Given the description of an element on the screen output the (x, y) to click on. 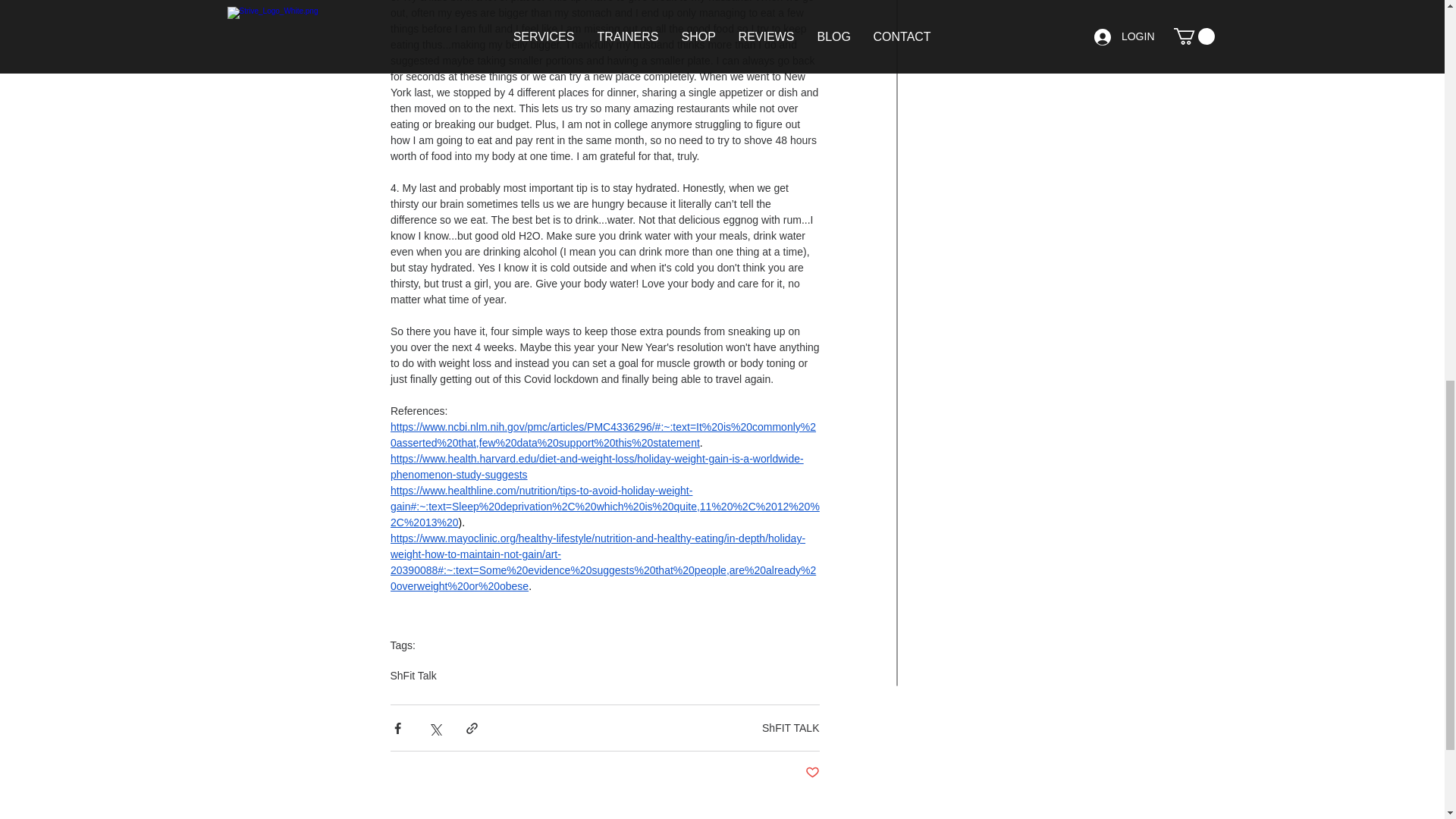
ShFIT TALK (789, 727)
Post not marked as liked (812, 772)
ShFit Talk (412, 675)
